Given the description of an element on the screen output the (x, y) to click on. 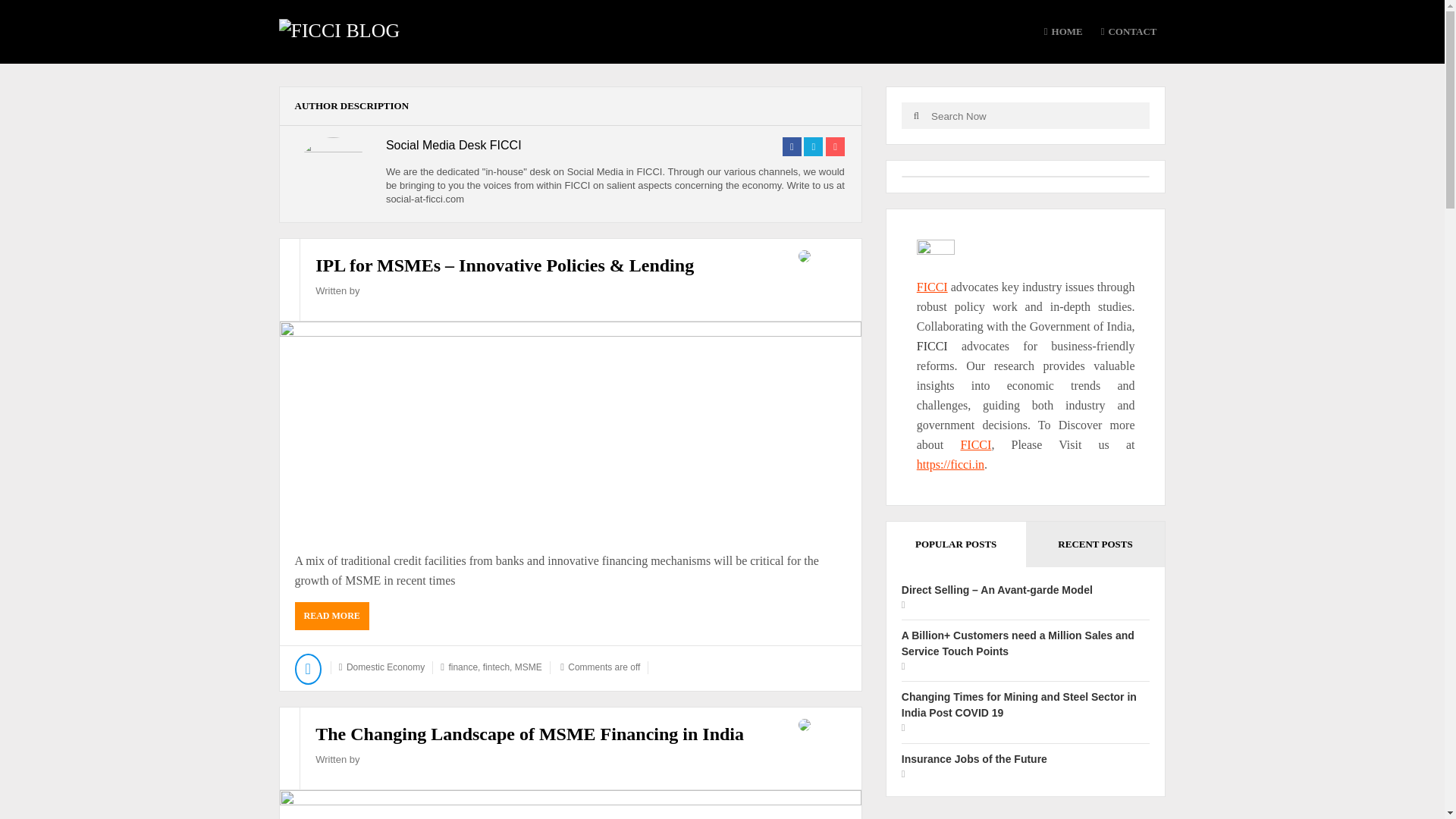
The Changing Landscape of MSME Financing in India (570, 804)
Connect on Twitter (812, 146)
finance (462, 666)
The Changing Landscape of MSME Financing in India (529, 733)
MSME (528, 666)
CONTACT (1128, 31)
Domestic Economy (385, 666)
fintech (496, 666)
Connect on Facebook (792, 146)
HOME (1063, 31)
